Given the description of an element on the screen output the (x, y) to click on. 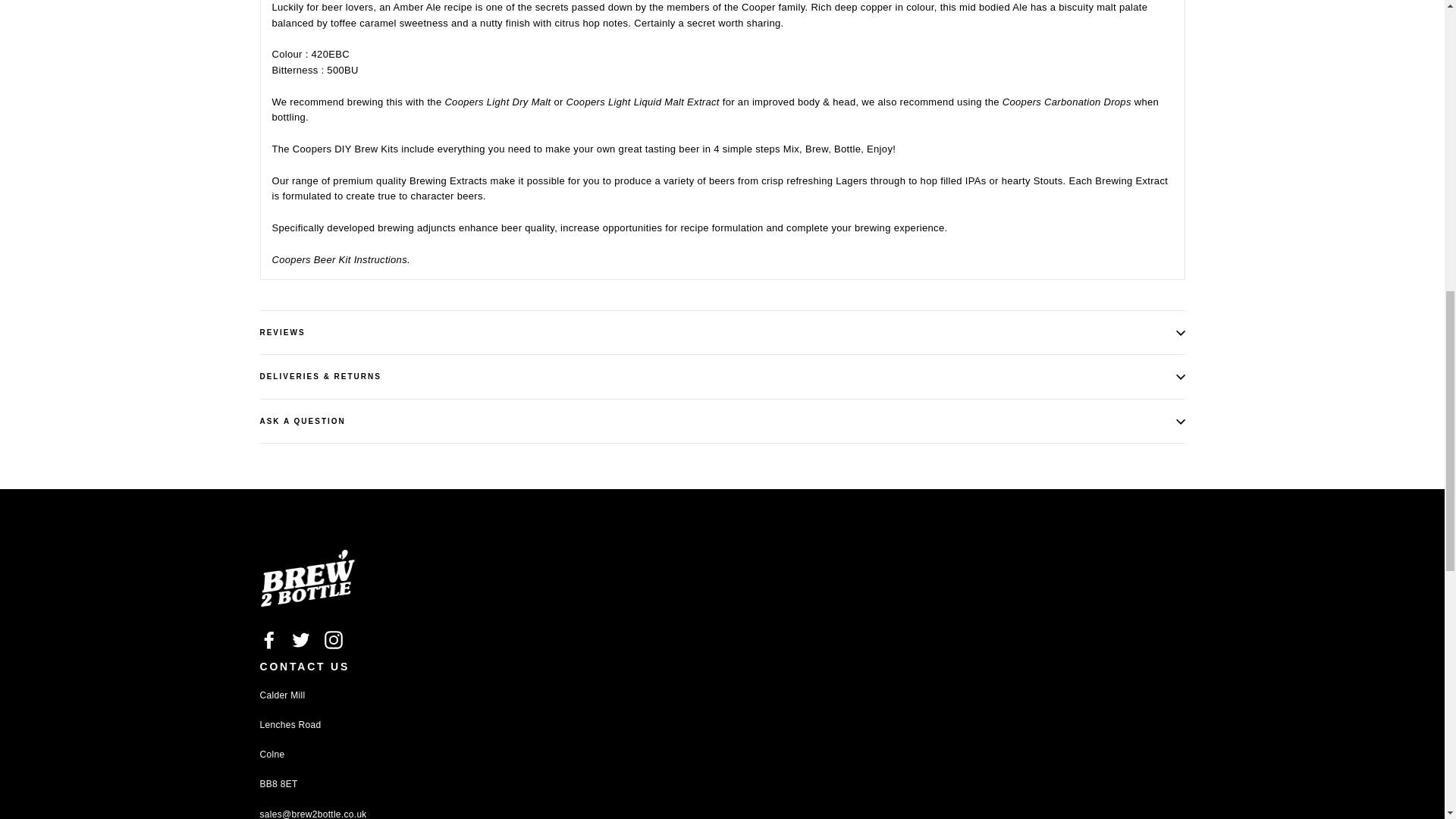
Brew2Bottle on Twitter (301, 639)
Brew2Bottle on Facebook (268, 639)
Brew2Bottle on Instagram (333, 639)
